Given the description of an element on the screen output the (x, y) to click on. 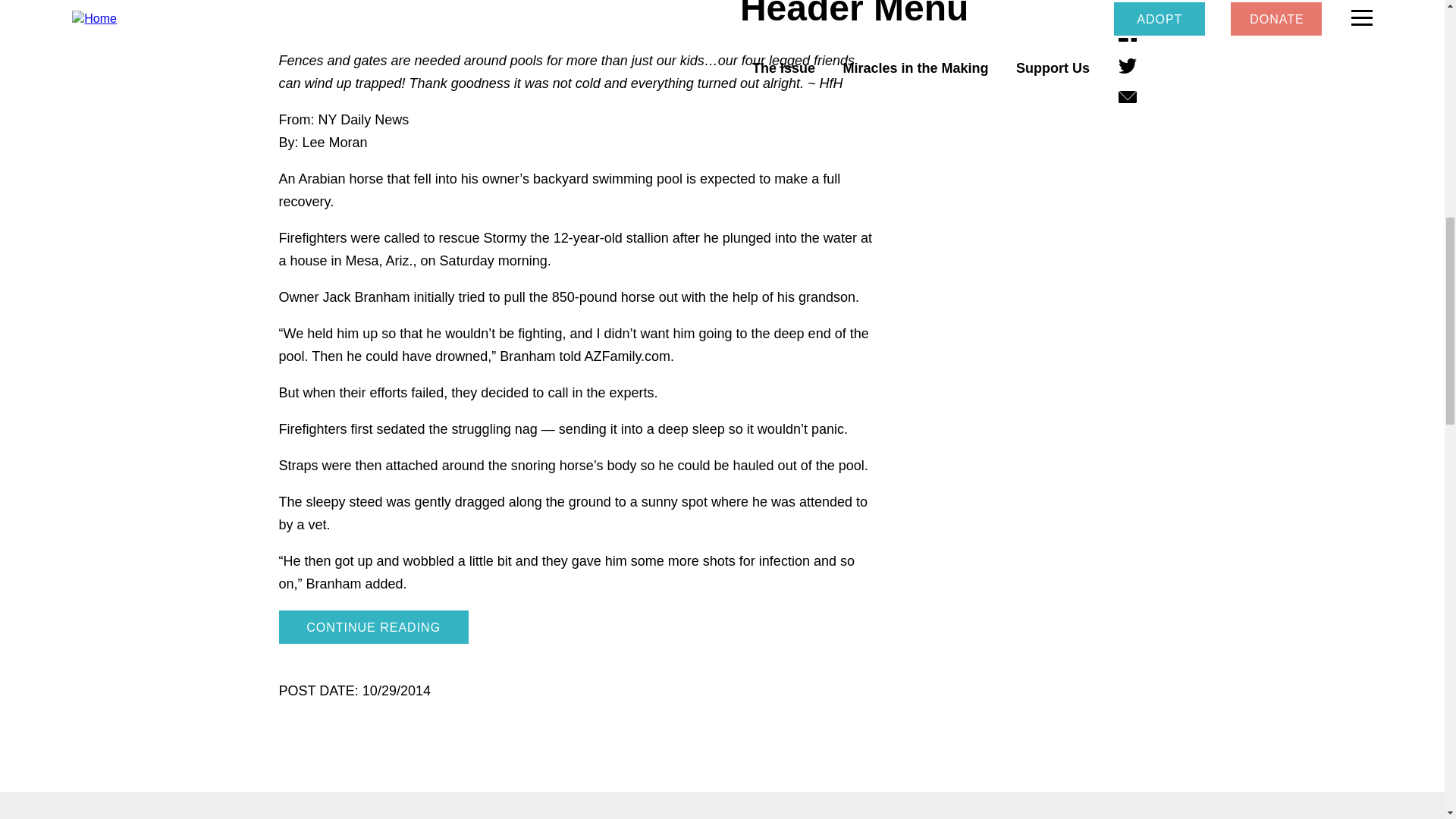
CONTINUE READING (373, 626)
